Given the description of an element on the screen output the (x, y) to click on. 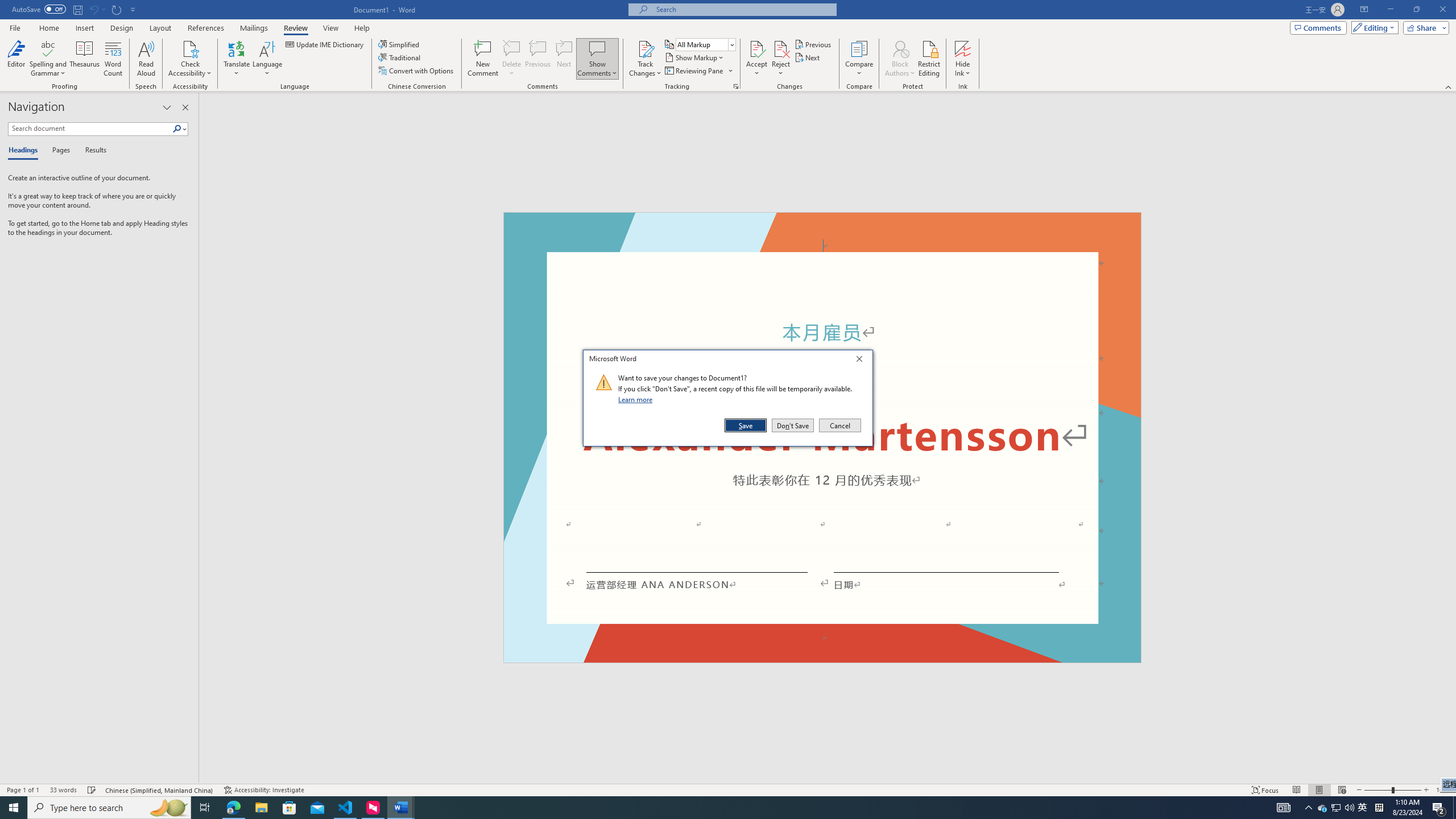
Reviewing Pane (694, 69)
Traditional (400, 56)
Block Authors (900, 58)
Display for Review (705, 44)
Spelling and Grammar (48, 58)
Show Comments (597, 58)
